Given the description of an element on the screen output the (x, y) to click on. 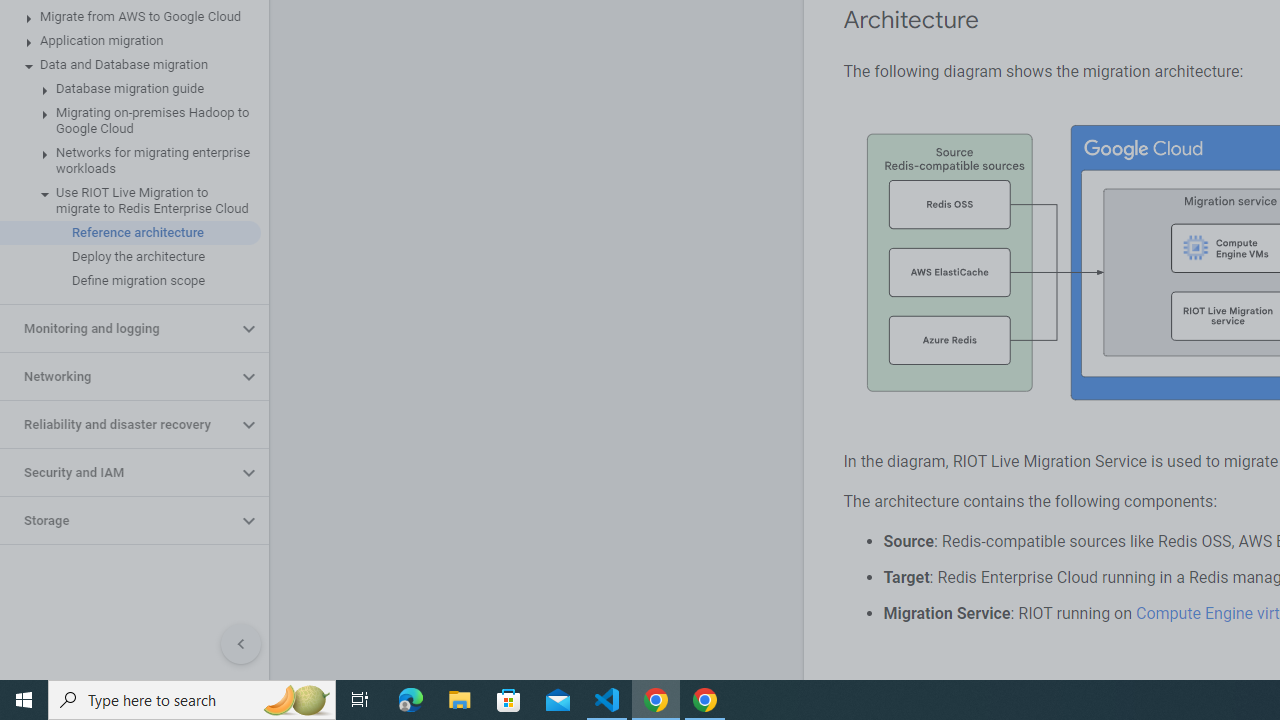
Application migration (130, 40)
Copy link to this section: Architecture (997, 20)
Security and IAM (118, 472)
